Given the description of an element on the screen output the (x, y) to click on. 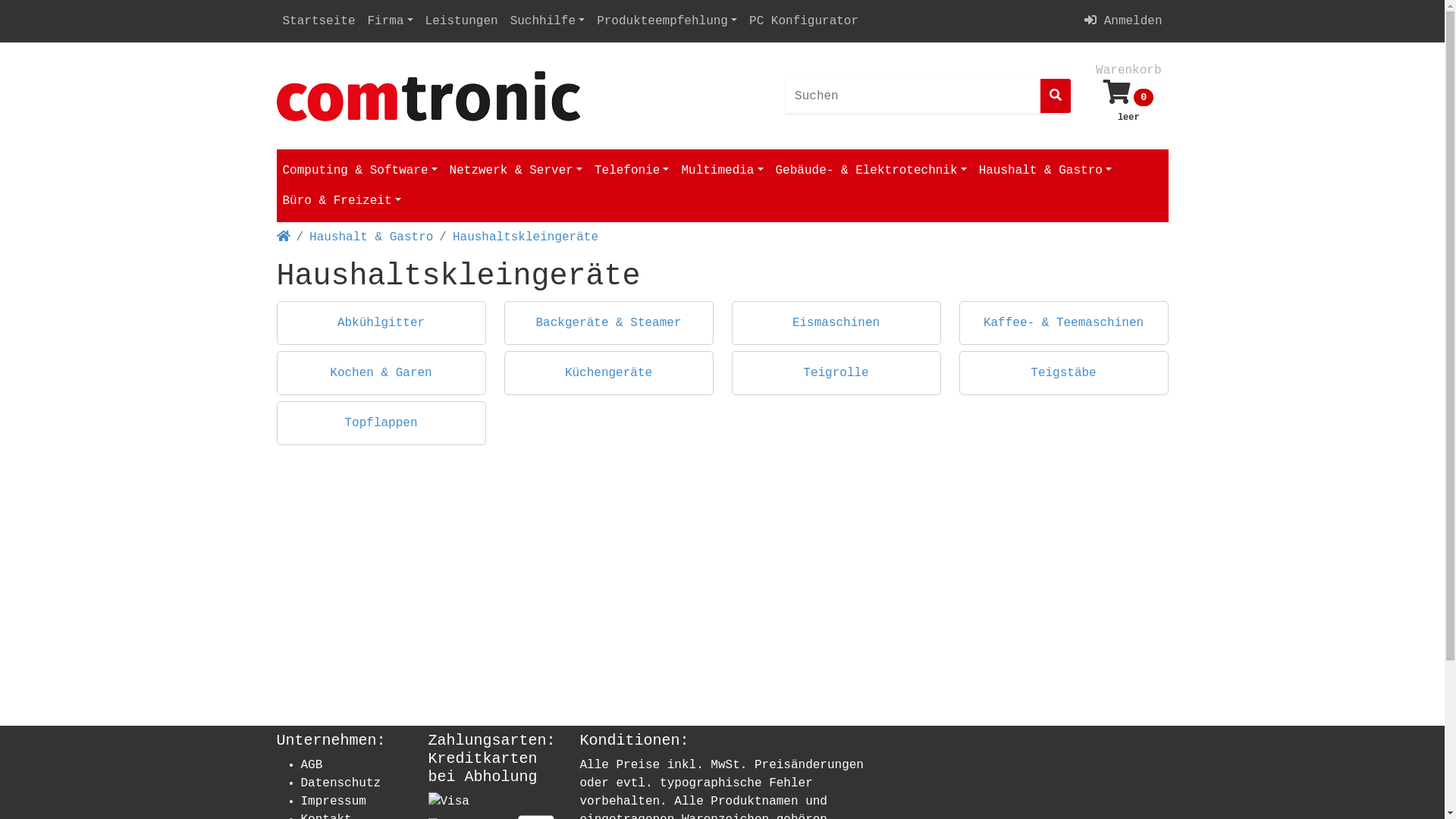
Warenkorb
0
leer Element type: text (1127, 95)
Multimedia Element type: text (721, 170)
Topflappen Element type: text (380, 422)
Eismaschinen Element type: text (835, 322)
Suche Element type: hover (1055, 95)
Suchhilfe Element type: text (547, 21)
Netzwerk & Server Element type: text (515, 170)
PC Konfigurator Element type: text (803, 21)
Anmelden Element type: text (1122, 21)
Firma Element type: text (390, 21)
Teigrolle Element type: text (835, 372)
Computing & Software Element type: text (359, 170)
Haushalt & Gastro Element type: text (1044, 170)
Impressum Element type: text (332, 801)
Kaffee- & Teemaschinen Element type: text (1063, 322)
Haushalt & Gastro Element type: text (371, 237)
AGB Element type: text (311, 764)
Leistungen Element type: text (461, 21)
Datenschutz Element type: text (340, 783)
Produkteempfehlung Element type: text (666, 21)
Kochen & Garen Element type: text (380, 372)
Startseite Element type: text (318, 21)
Telefonie Element type: text (631, 170)
